Given the description of an element on the screen output the (x, y) to click on. 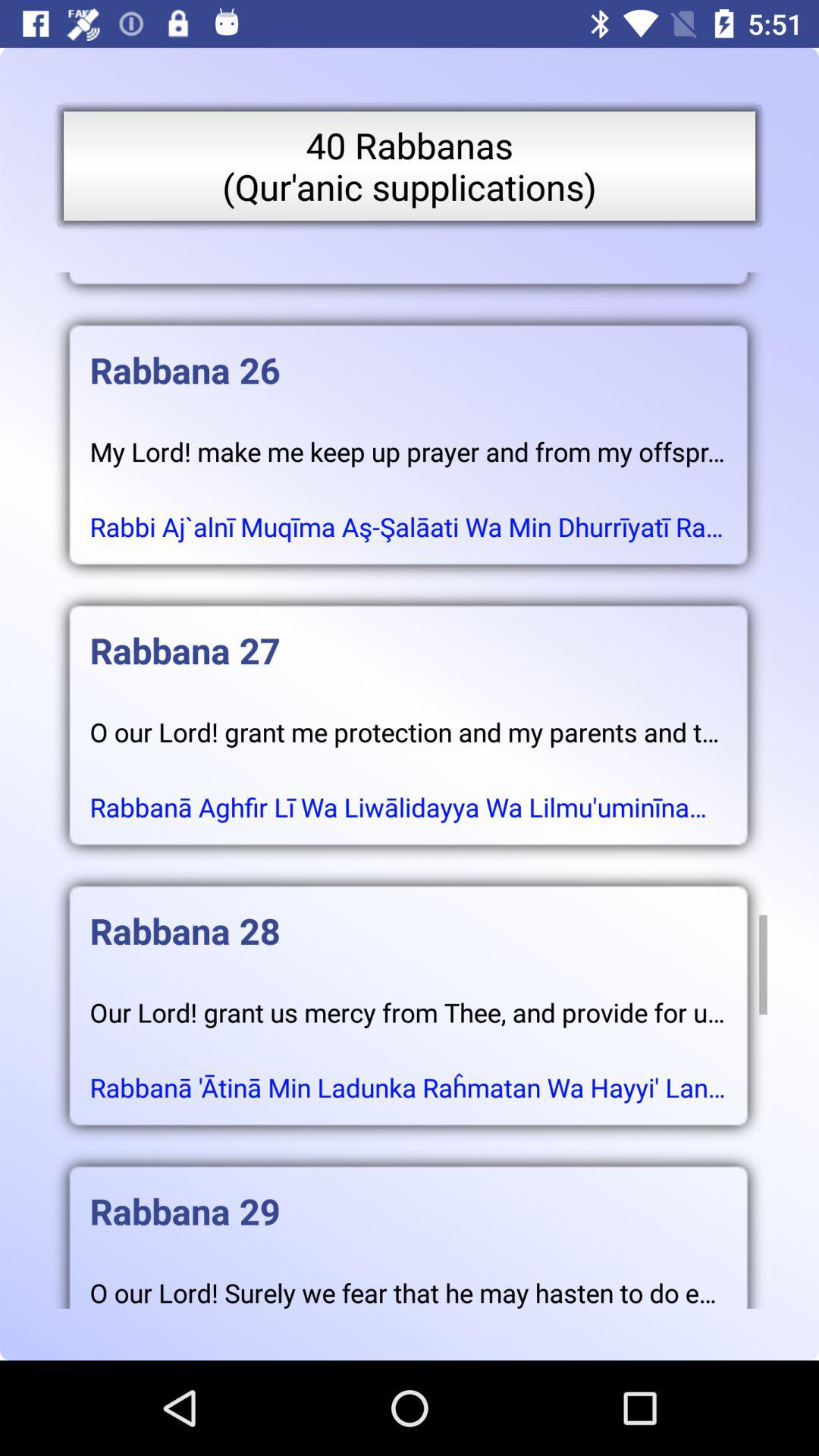
swipe until the rabbana 26 icon (408, 355)
